Given the description of an element on the screen output the (x, y) to click on. 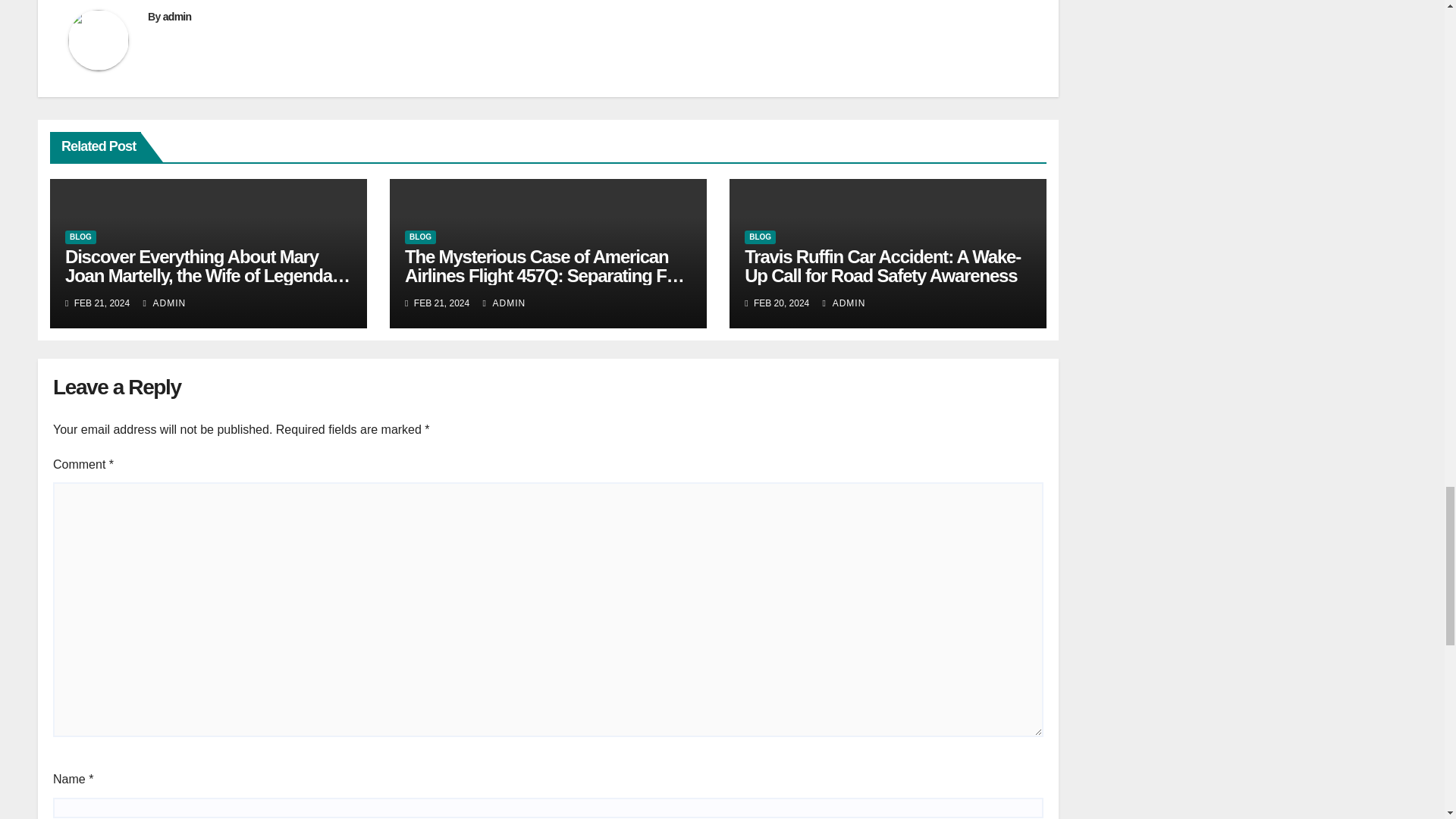
admin (177, 16)
